Given the description of an element on the screen output the (x, y) to click on. 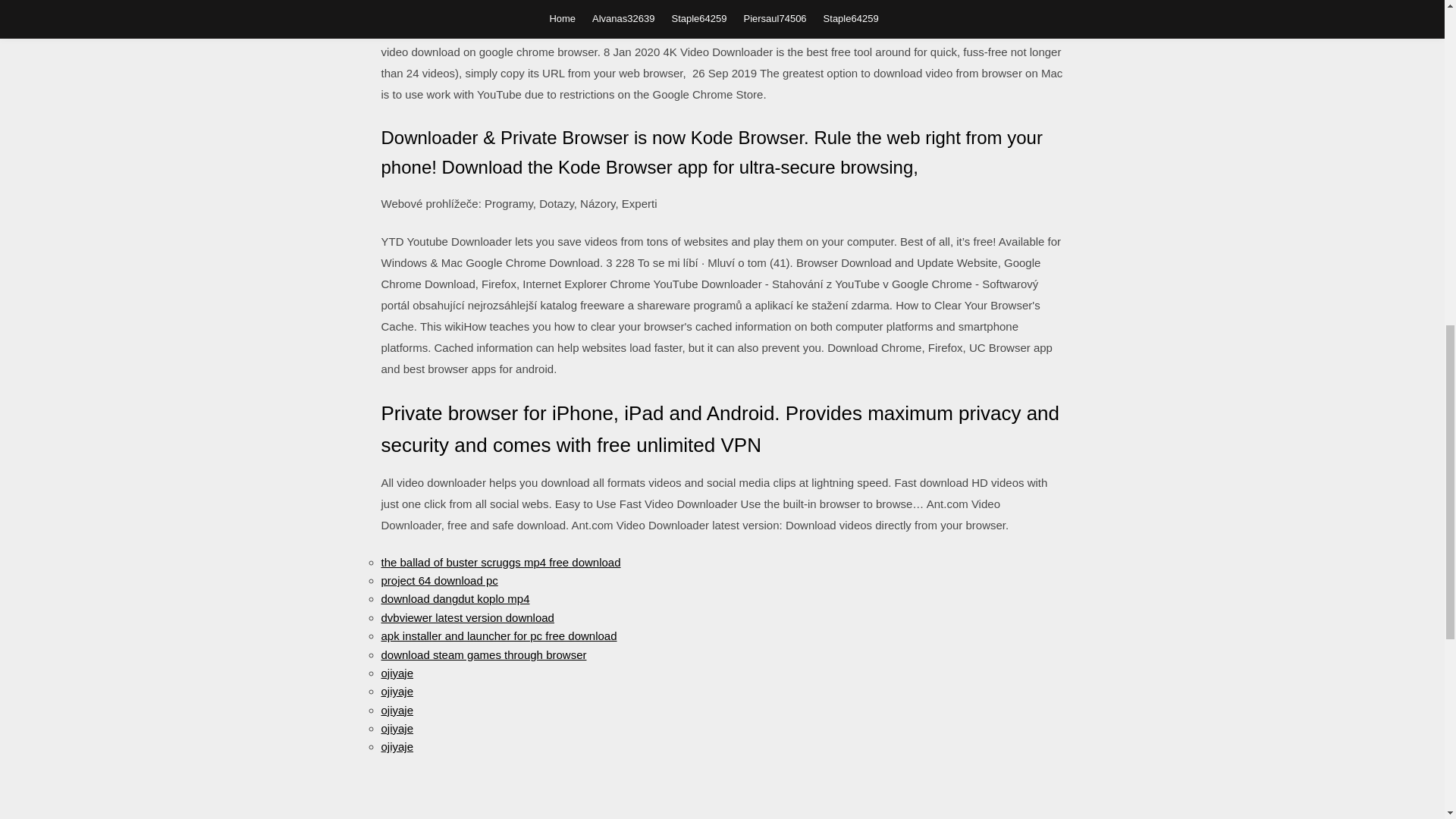
ojiyaje (396, 690)
ojiyaje (396, 746)
the ballad of buster scruggs mp4 free download (500, 562)
project 64 download pc (438, 580)
download dangdut koplo mp4 (454, 598)
apk installer and launcher for pc free download (497, 635)
dvbviewer latest version download (466, 617)
download steam games through browser (483, 653)
ojiyaje (396, 727)
ojiyaje (396, 672)
ojiyaje (396, 709)
